Given the description of an element on the screen output the (x, y) to click on. 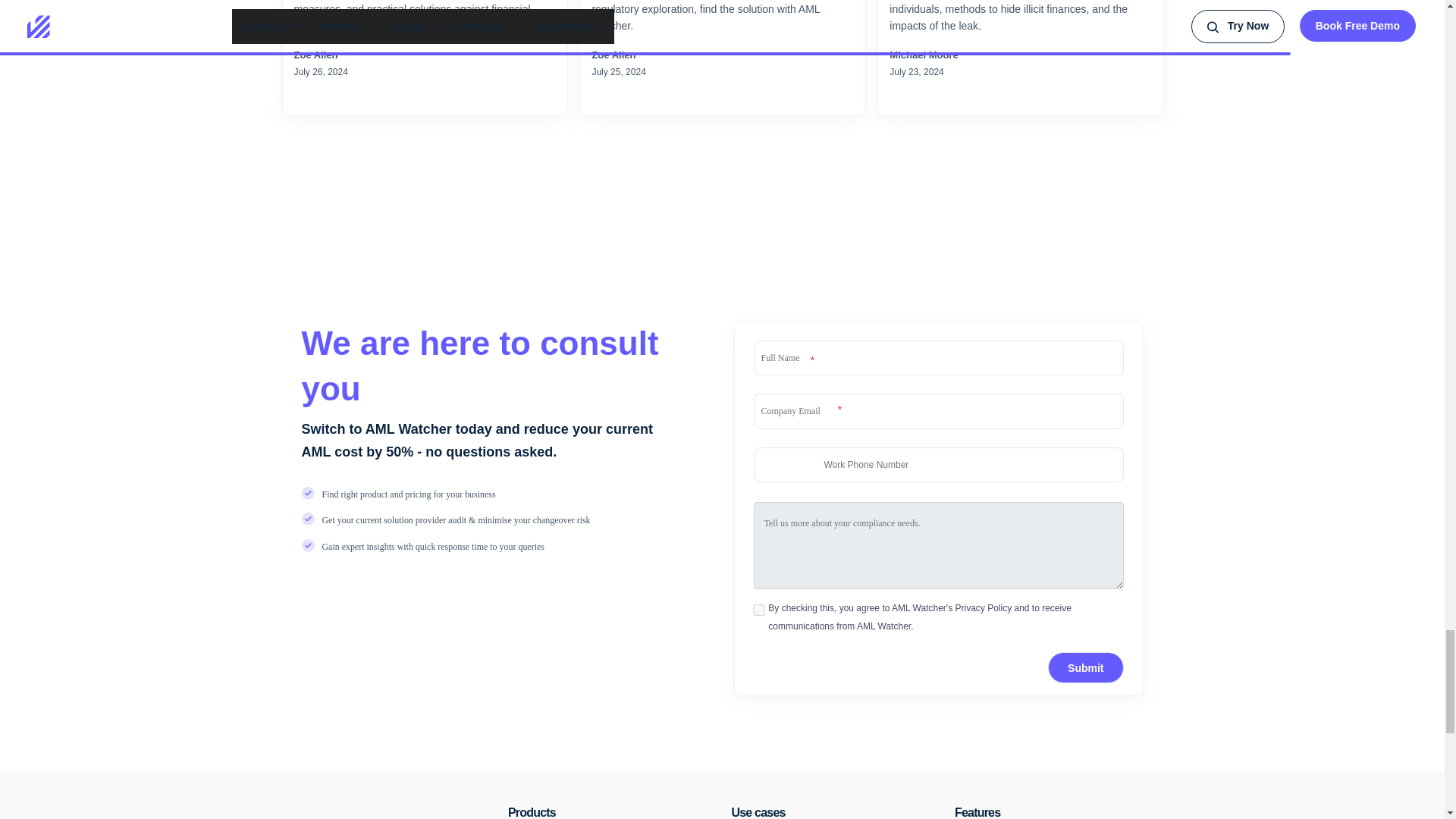
1 (758, 609)
Submit (1085, 667)
